Given the description of an element on the screen output the (x, y) to click on. 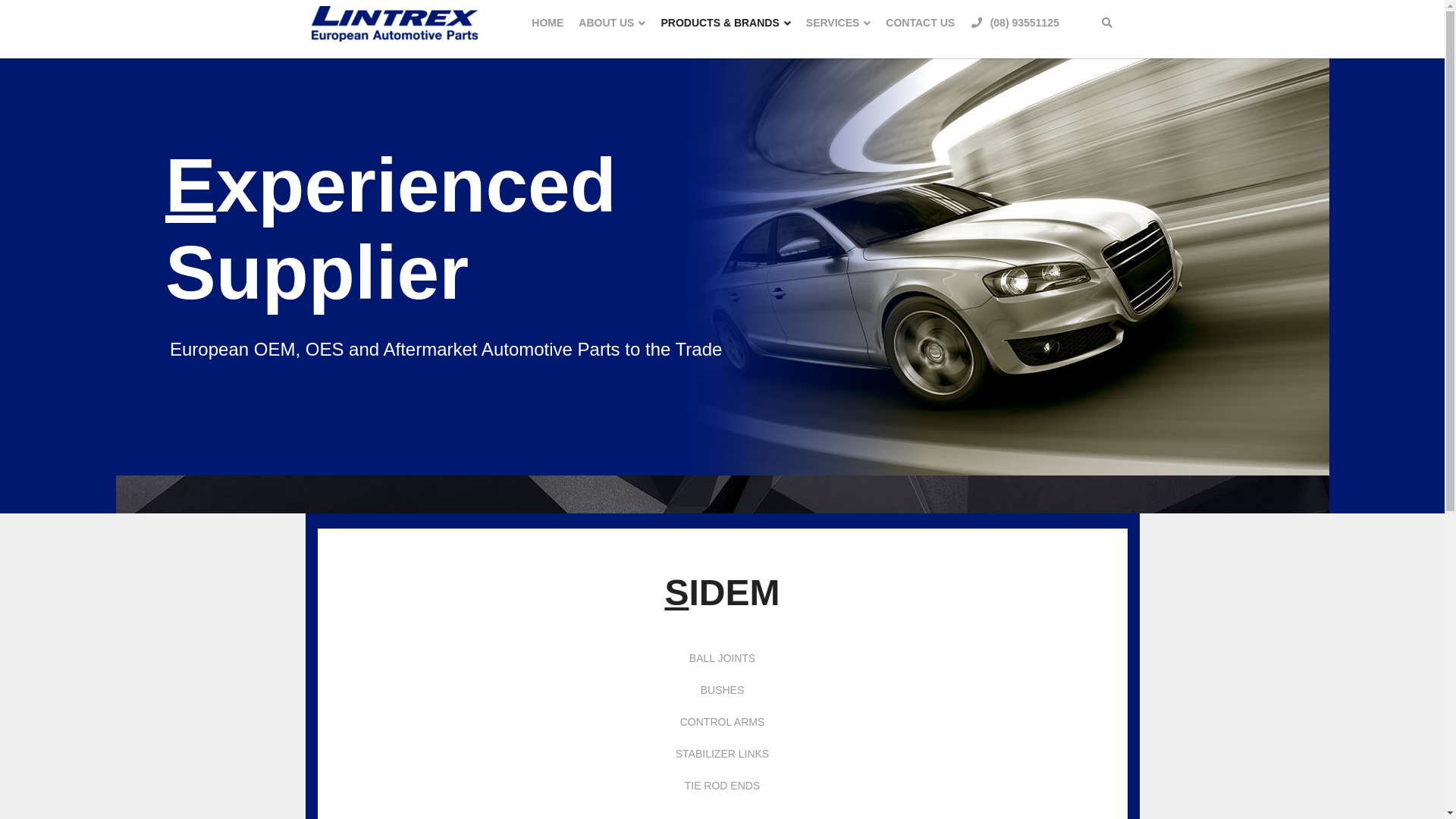
BALL JOINTS Element type: text (722, 658)
TIE ROD ENDS Element type: text (722, 785)
BUSHES Element type: text (722, 690)
(08) 93551125 Element type: text (1014, 22)
CONTROL ARMS Element type: text (722, 721)
HOME Element type: text (547, 22)
STABILIZER LINKS Element type: text (721, 753)
ABOUT US Element type: text (611, 22)
SERVICES Element type: text (838, 22)
CONTACT US Element type: text (920, 22)
